Given the description of an element on the screen output the (x, y) to click on. 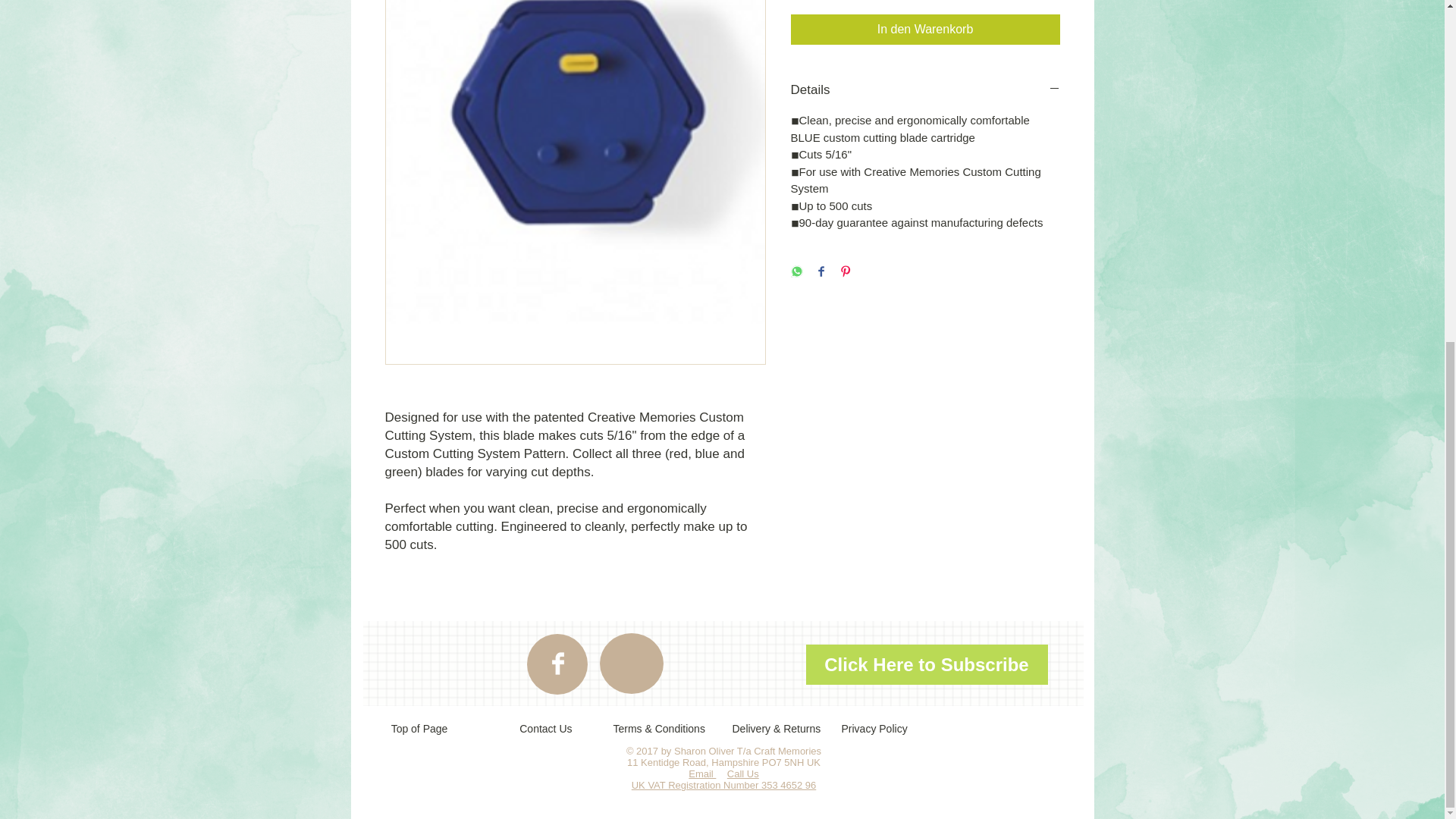
In den Warenkorb (924, 29)
Email  (702, 773)
Contact Us (537, 728)
Privacy Policy (874, 728)
Call Us (742, 773)
Click Here to Subscribe (925, 664)
Details (924, 90)
Top of Page (418, 728)
